Given the description of an element on the screen output the (x, y) to click on. 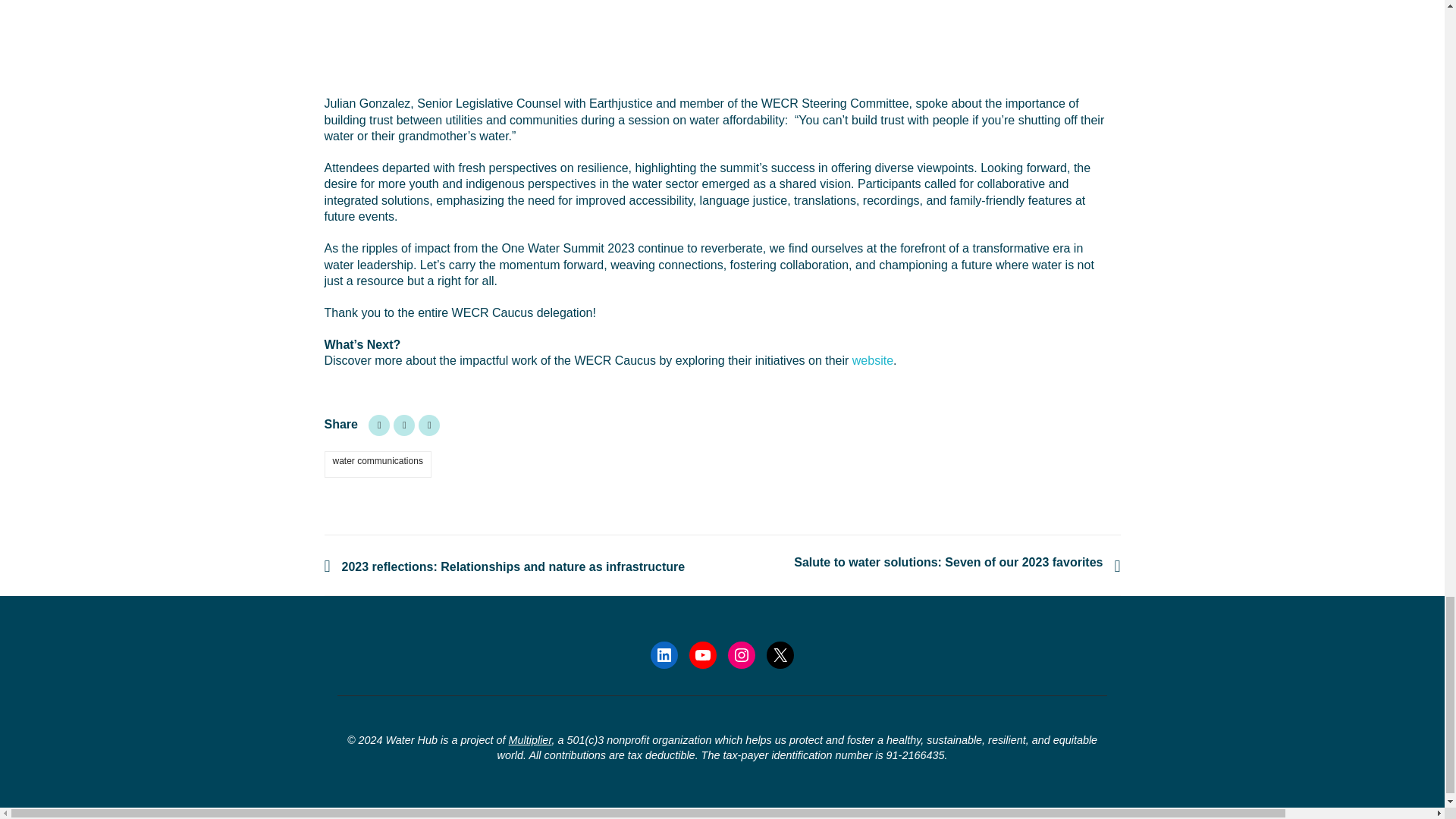
X (780, 655)
website (872, 359)
Social Share facebook (403, 424)
LinkedIn (664, 655)
YouTube (702, 655)
Social Share linkedin (429, 424)
Multiplier (529, 739)
water communications (377, 464)
